Given the description of an element on the screen output the (x, y) to click on. 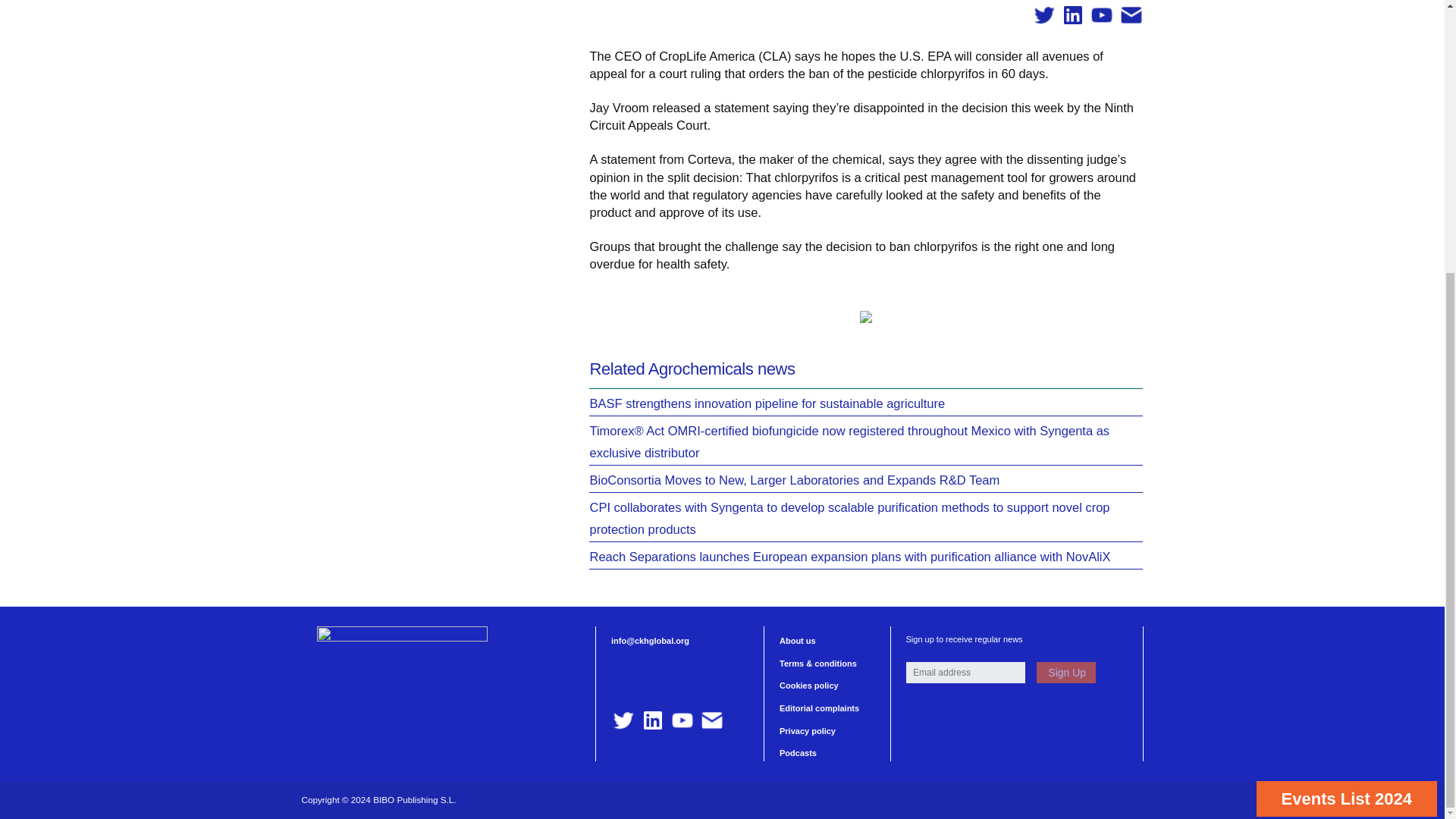
Sign Up (1065, 672)
Privacy policy (806, 730)
twitter (622, 720)
Events List 2024 (1346, 397)
youtube (1101, 15)
youtube (681, 720)
About us (796, 640)
